Given the description of an element on the screen output the (x, y) to click on. 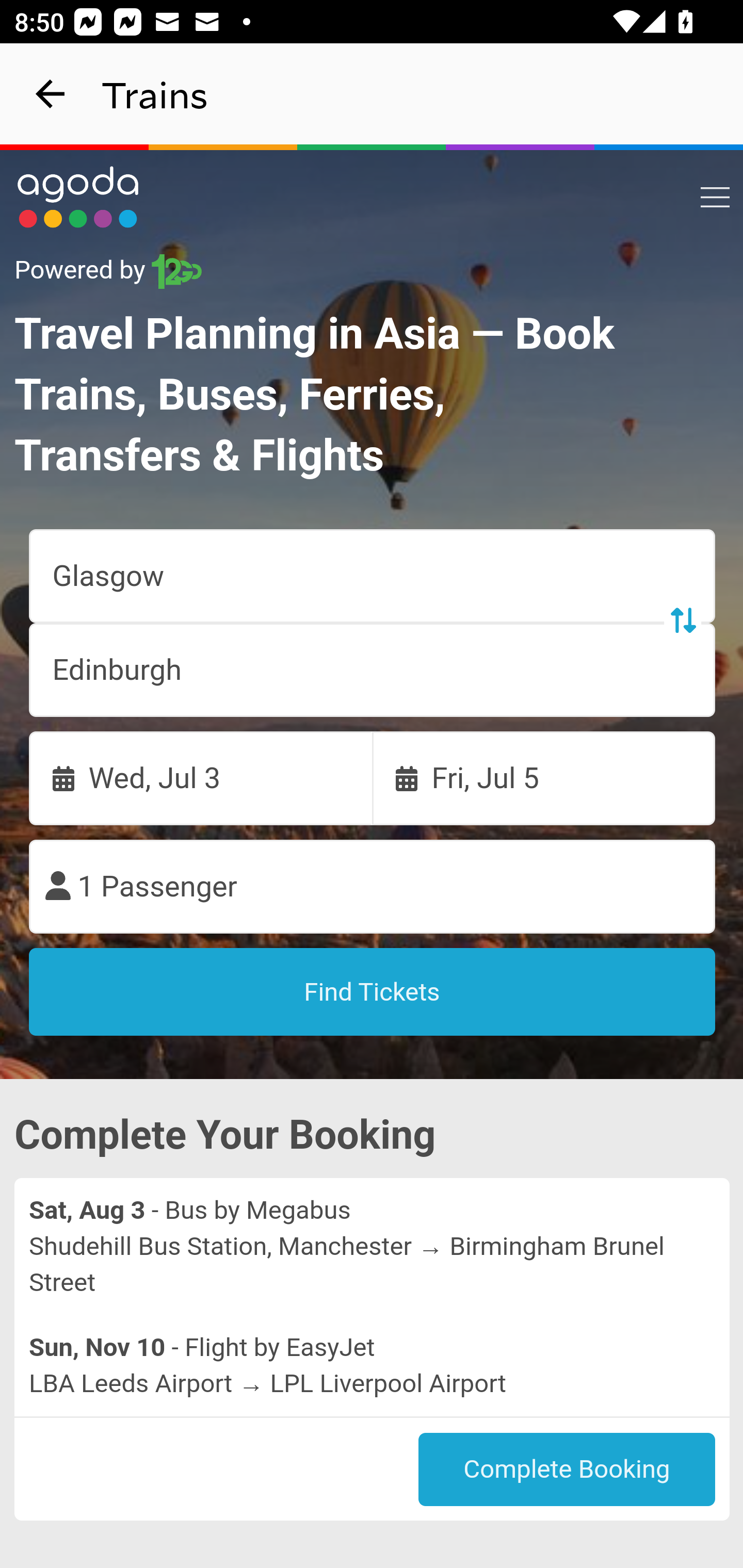
navigation_button (50, 93)
Link to main page 5418 (78, 197)
Glasgow Swap trip points (372, 576)
Swap trip points (682, 619)
Edinburgh (372, 670)
Wed, Jul 3 (200, 778)
Fri, Jul 5 (544, 778)
 1 Passenger (372, 887)
Find Tickets (372, 992)
Complete Booking (566, 1469)
